Given the description of an element on the screen output the (x, y) to click on. 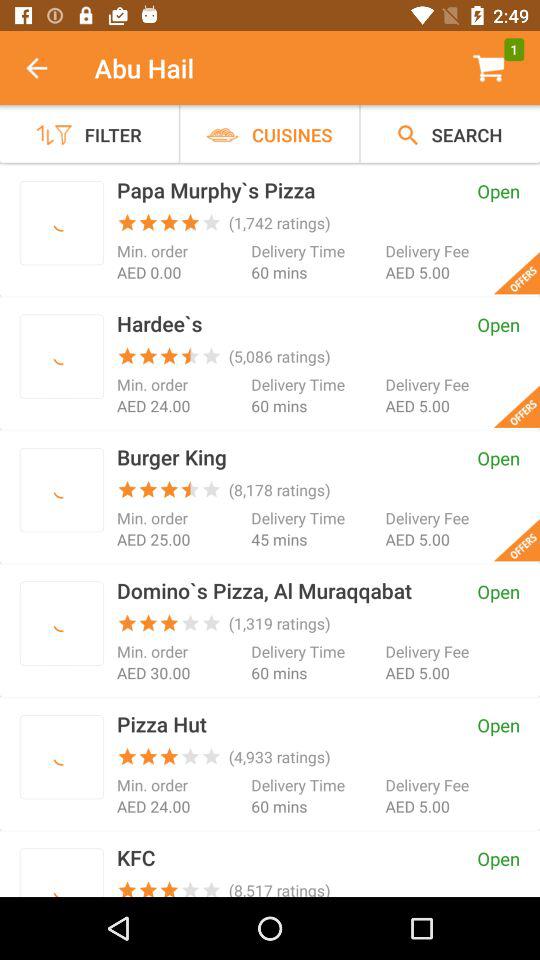
tap item next to abu hail icon (47, 68)
